Given the description of an element on the screen output the (x, y) to click on. 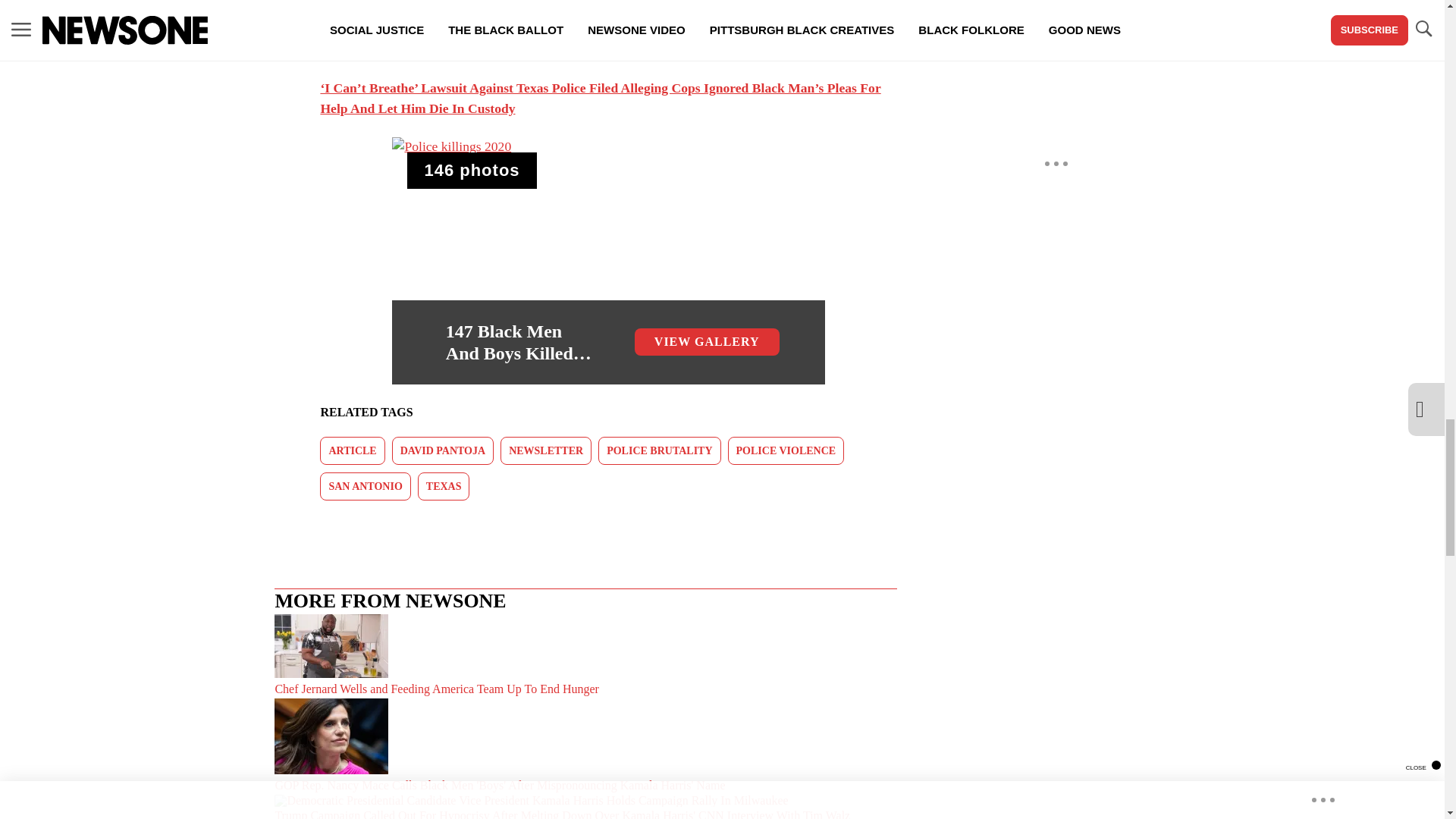
Chef Jernard Wells and Feeding America Team Up To End Hunger (585, 656)
SAN ANTONIO (365, 486)
TEXAS (443, 486)
POLICE VIOLENCE (786, 450)
Media Playlist (607, 260)
ARTICLE (471, 170)
POLICE BRUTALITY (352, 450)
